Given the description of an element on the screen output the (x, y) to click on. 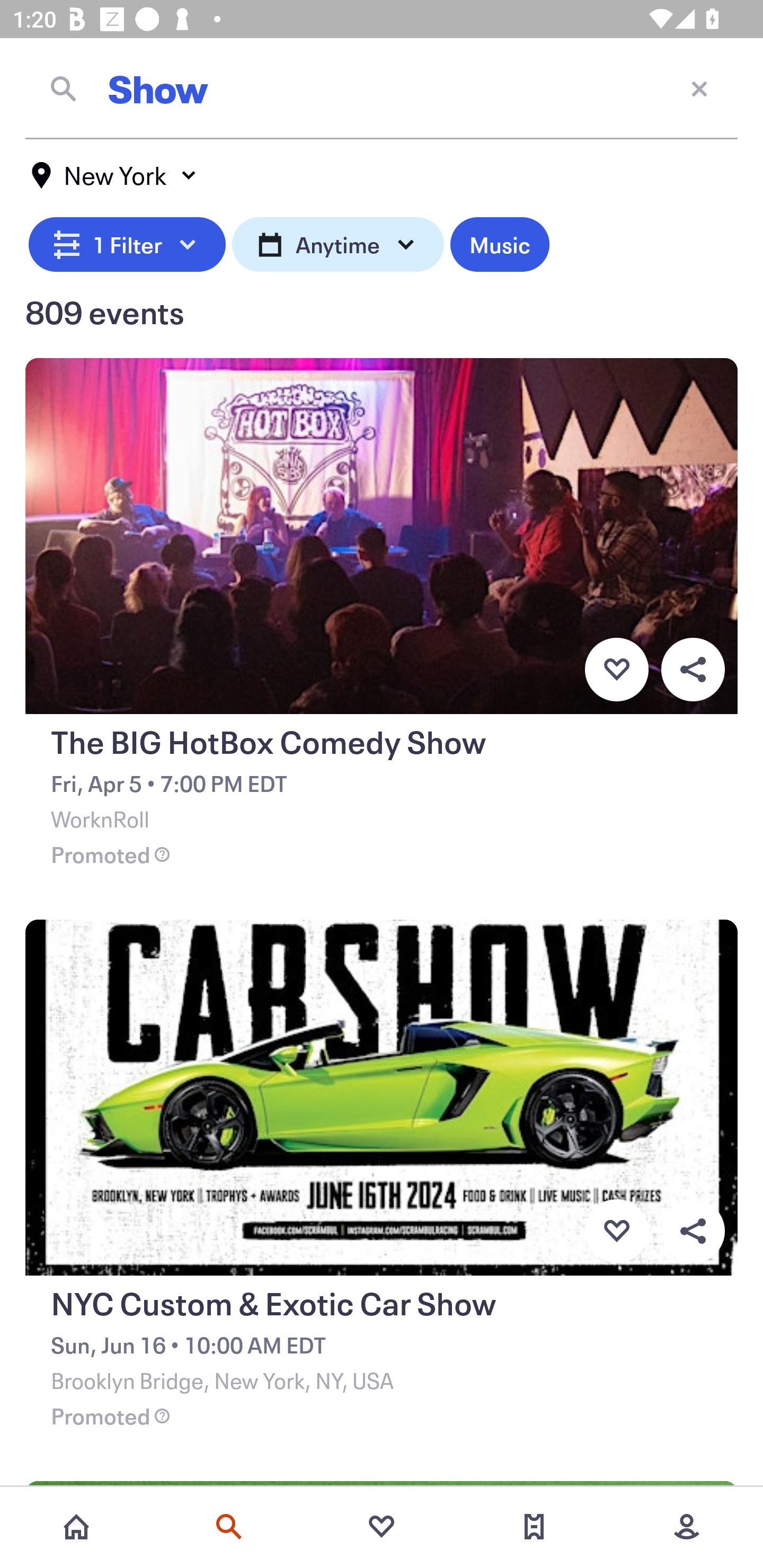
Show Close current screen (381, 88)
Close current screen (699, 88)
New York (114, 175)
1 Filter (126, 241)
Anytime (337, 241)
Music (499, 241)
Favorite button (616, 669)
Overflow menu button (692, 669)
Favorite button (616, 1230)
Overflow menu button (692, 1230)
Home (76, 1526)
Search events (228, 1526)
Favorites (381, 1526)
Tickets (533, 1526)
More (686, 1526)
